Given the description of an element on the screen output the (x, y) to click on. 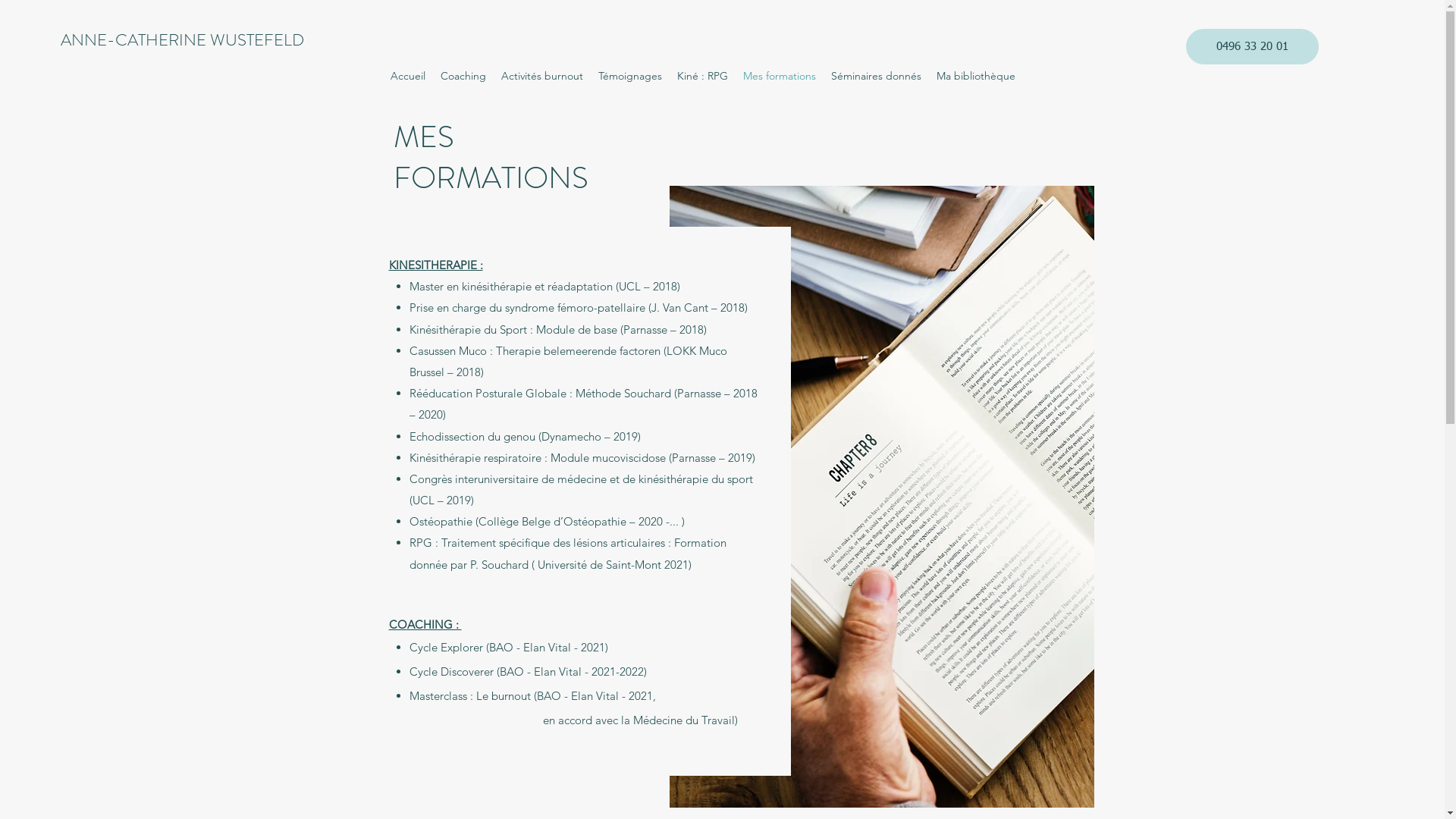
0496 33 20 01 Element type: text (1252, 46)
Coaching Element type: text (462, 75)
ANNE-CATHERINE WUSTEFELD Element type: text (182, 39)
Mes formations Element type: text (779, 75)
Accueil Element type: text (407, 75)
